Given the description of an element on the screen output the (x, y) to click on. 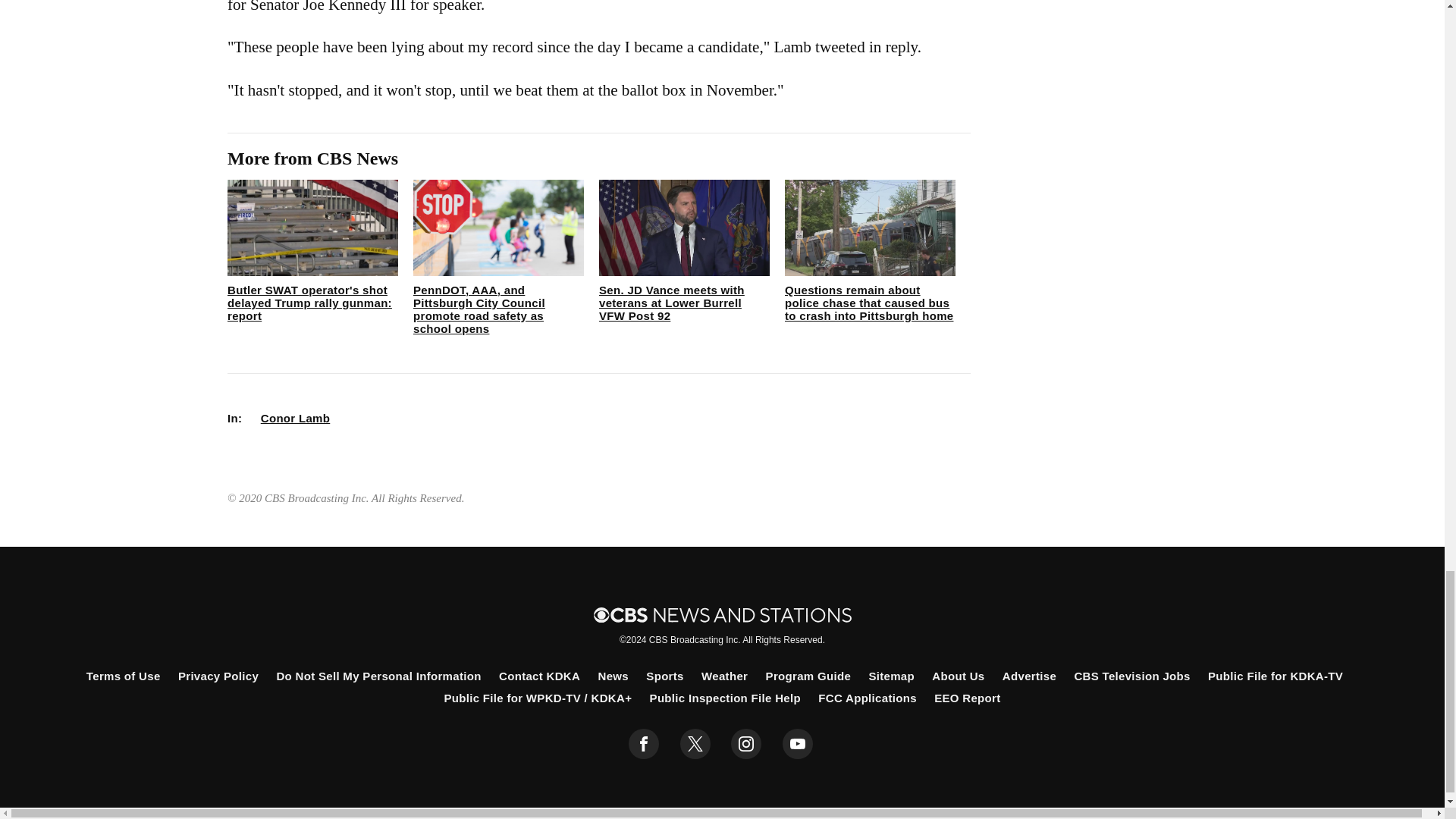
facebook (643, 743)
youtube (797, 743)
twitter (694, 743)
instagram (745, 743)
